Given the description of an element on the screen output the (x, y) to click on. 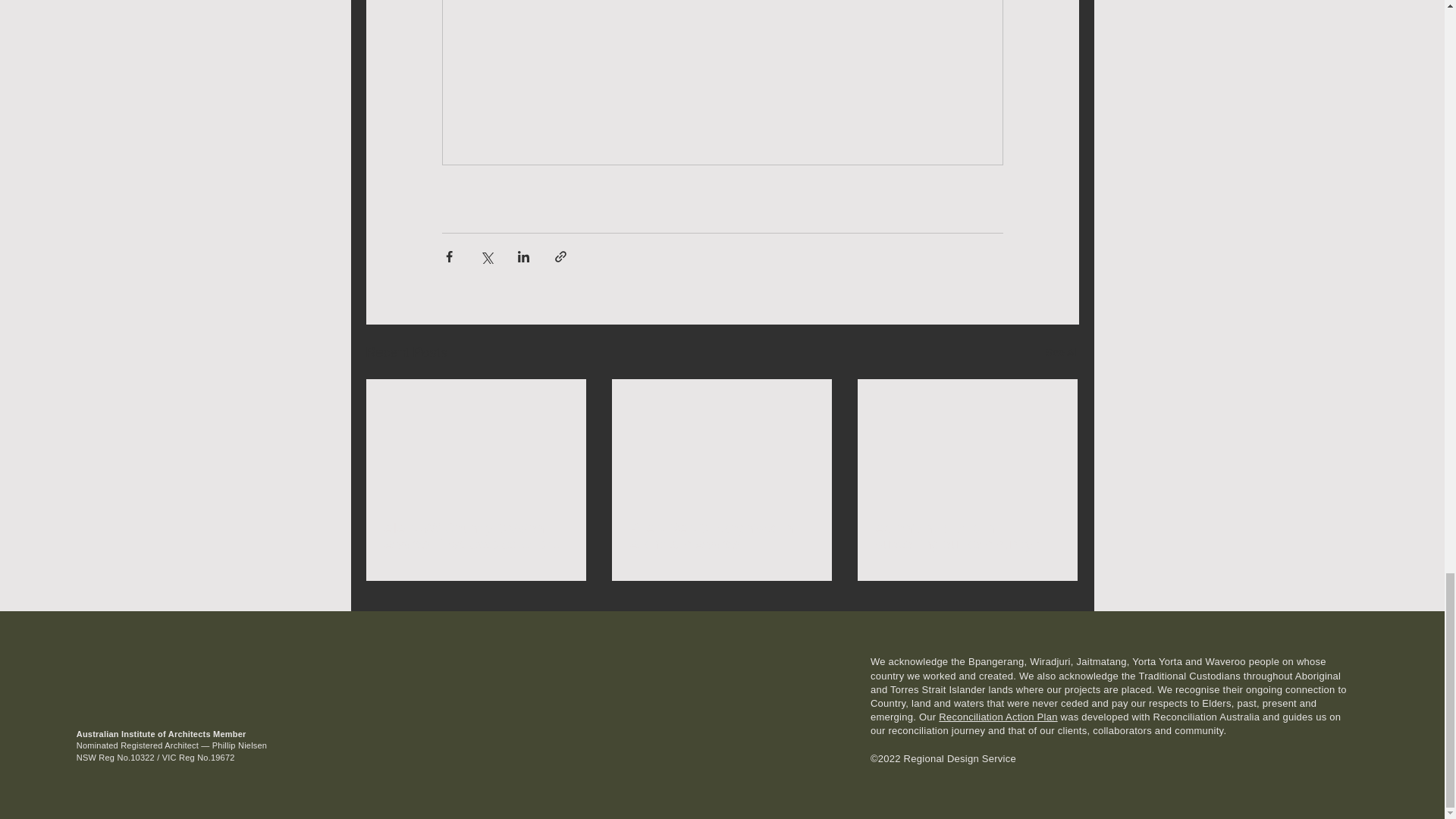
PLAN RAND recognised in Architeam Awards (720, 536)
See All (1061, 352)
Reconciliation Action Plan (998, 716)
